Given the description of an element on the screen output the (x, y) to click on. 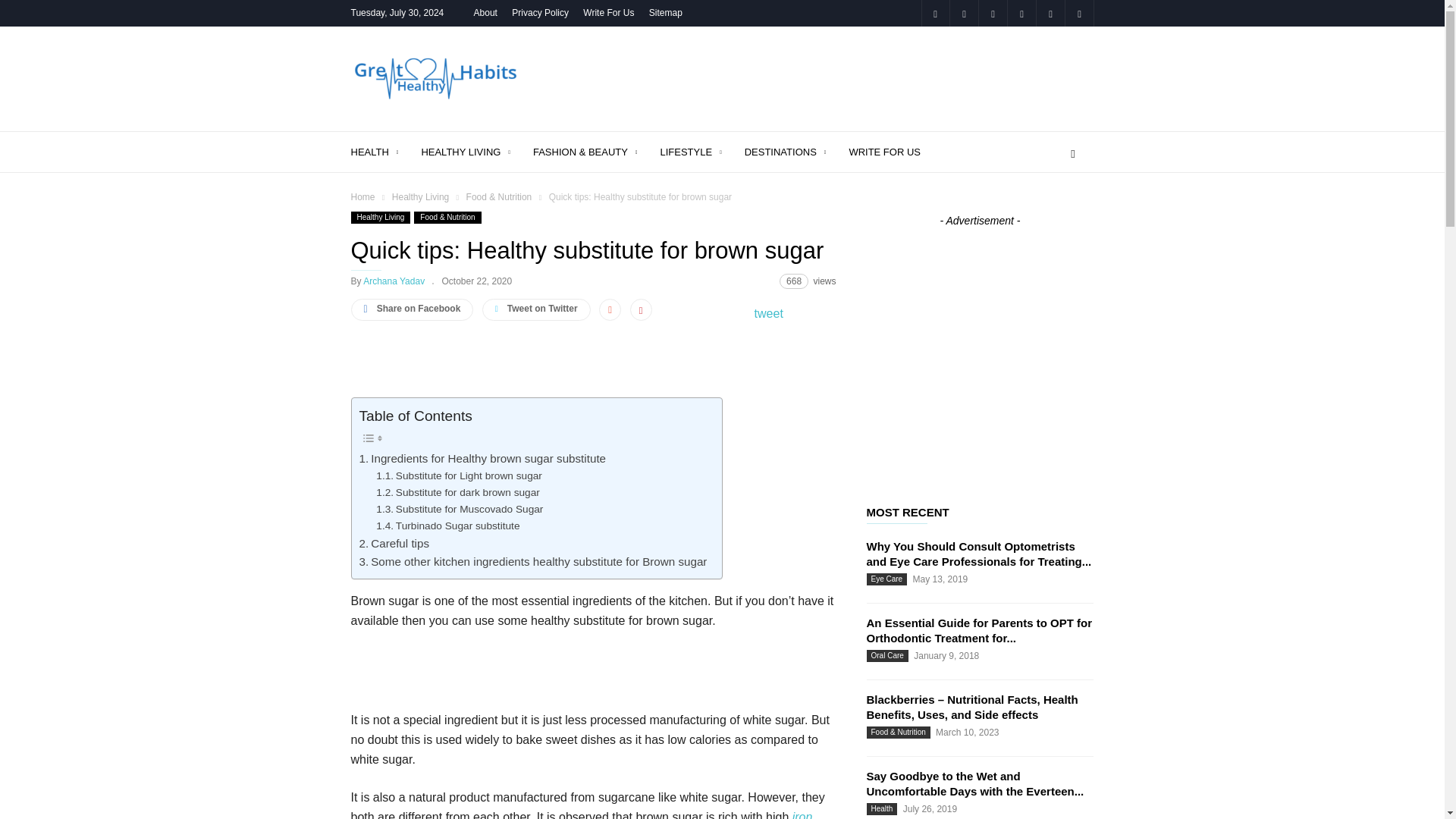
Pinterest (992, 13)
Twitter (1078, 13)
Privacy Policy (540, 12)
StumbleUpon (1049, 13)
Facebook (934, 13)
Advertisement (817, 79)
About (485, 12)
Mail (963, 13)
RSS (1021, 13)
